Given the description of an element on the screen output the (x, y) to click on. 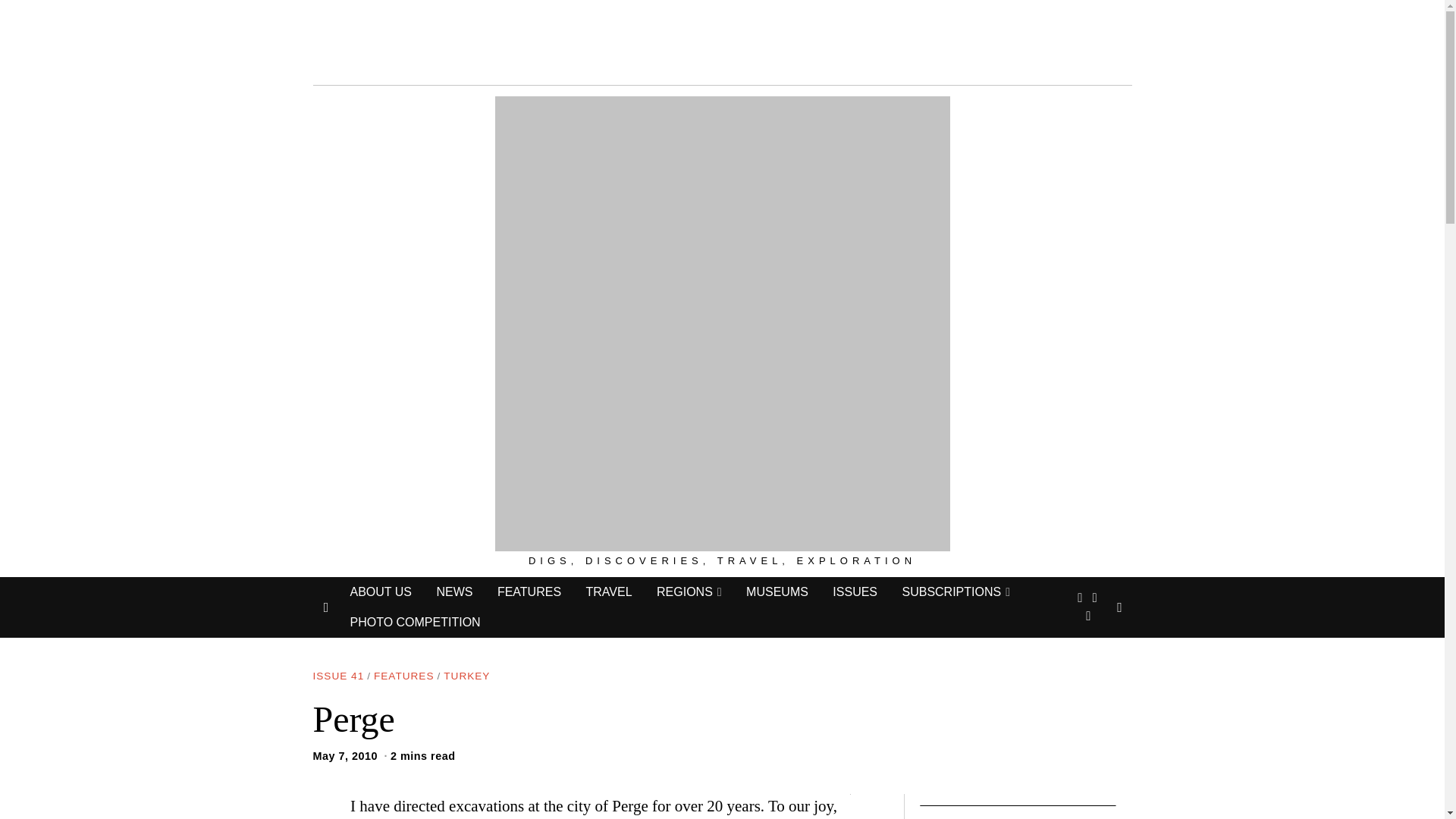
ABOUT US (380, 592)
TRAVEL (608, 592)
FEATURES (529, 592)
NEWS (454, 592)
REGIONS (689, 592)
